Given the description of an element on the screen output the (x, y) to click on. 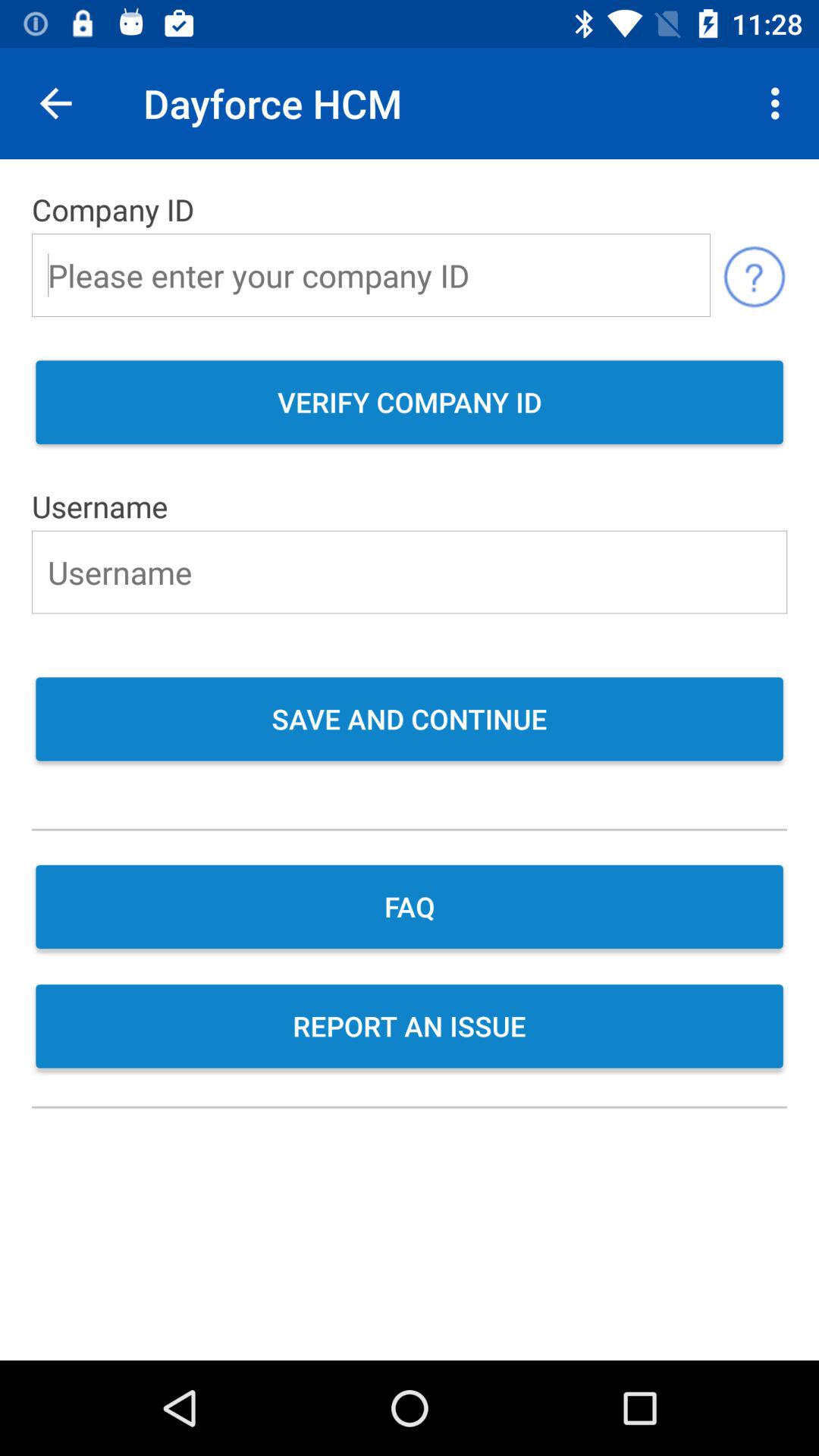
enter username (409, 571)
